Given the description of an element on the screen output the (x, y) to click on. 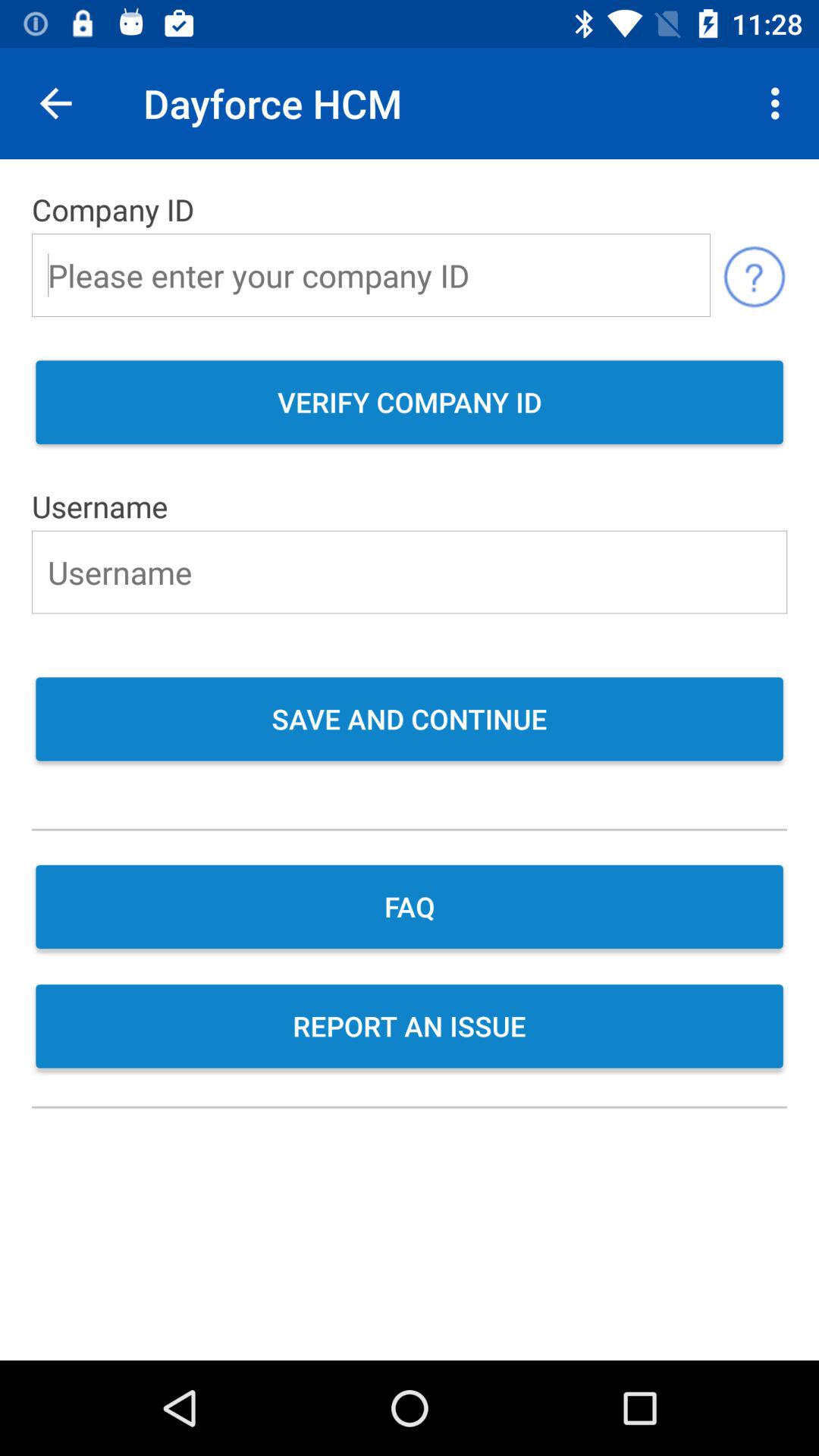
enter username (409, 571)
